Given the description of an element on the screen output the (x, y) to click on. 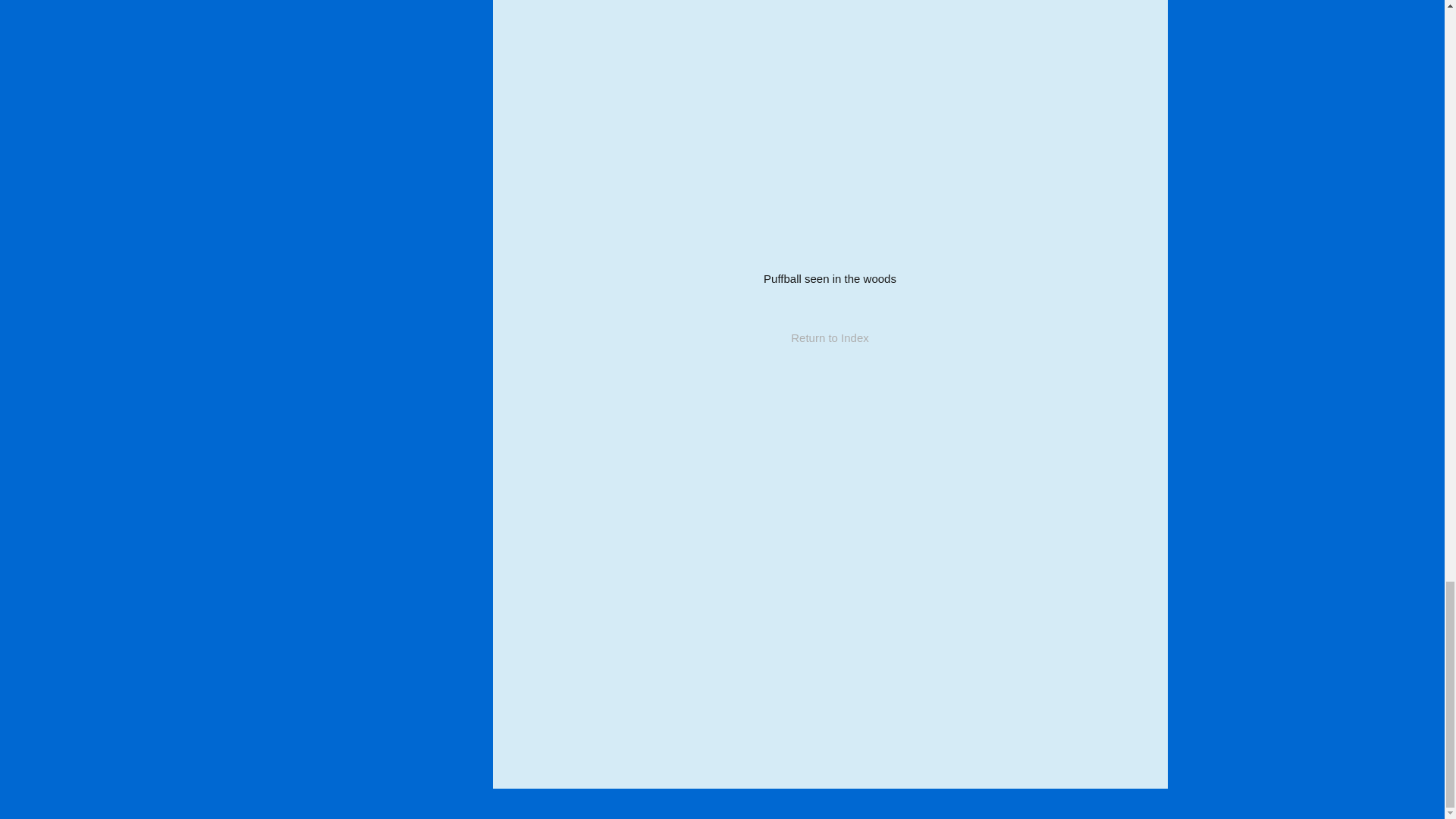
Return to Index (829, 337)
